Given the description of an element on the screen output the (x, y) to click on. 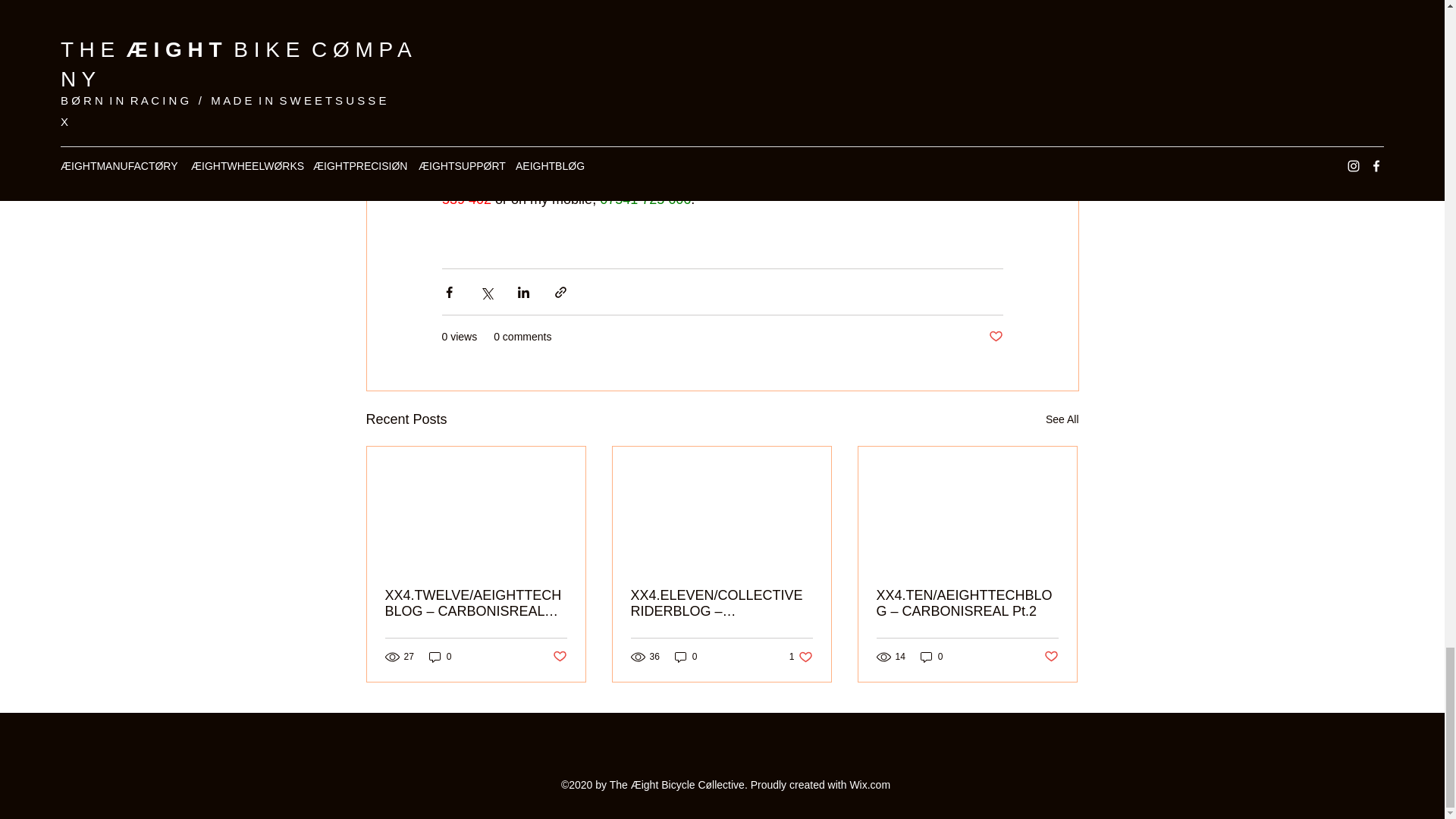
0 (440, 657)
Post not marked as liked (558, 657)
See All (1061, 419)
Post not marked as liked (1050, 657)
Post not marked as liked (995, 336)
0 (800, 657)
0 (685, 657)
